Given the description of an element on the screen output the (x, y) to click on. 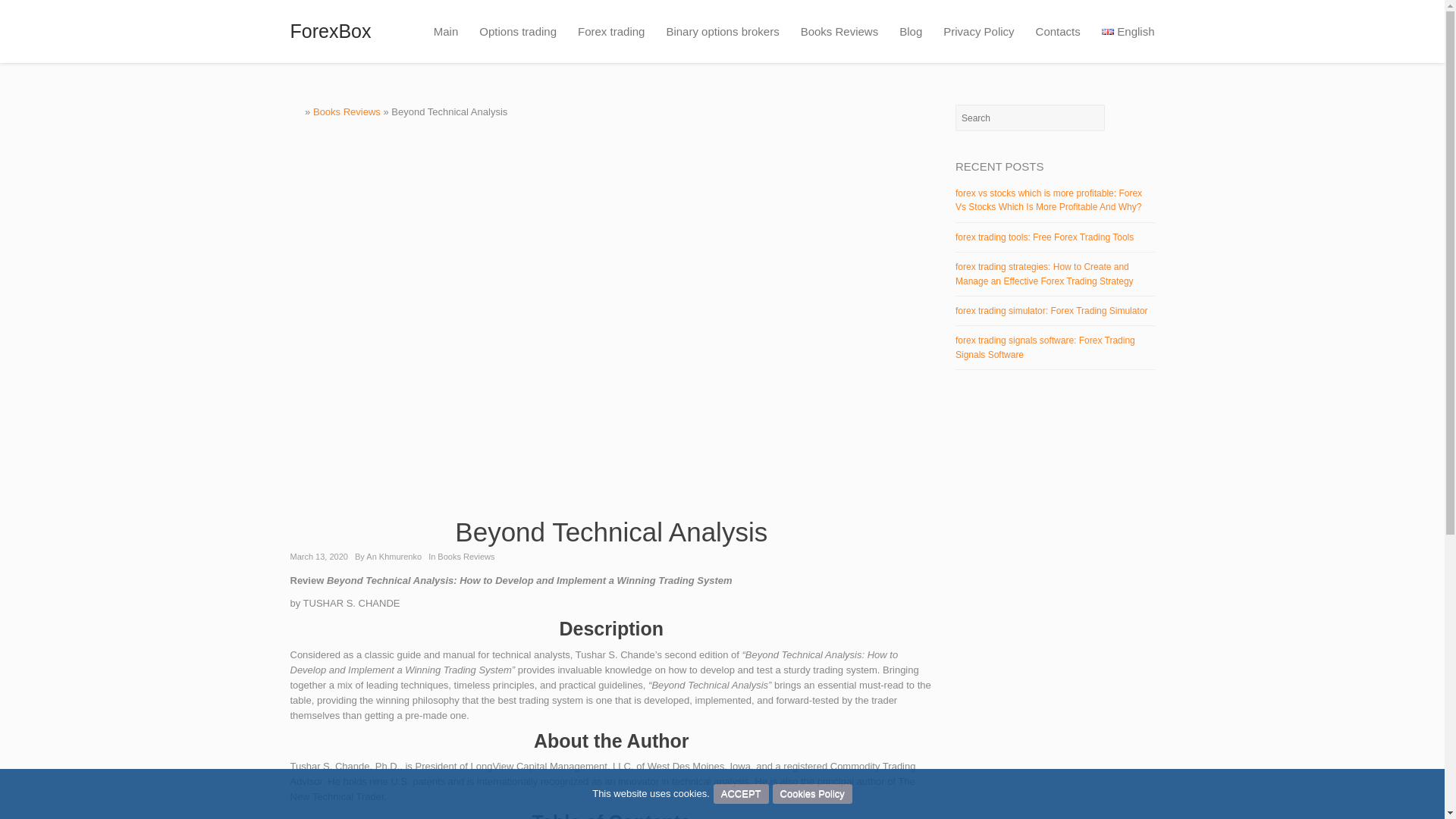
forex trading tools: Free Forex Trading Tools (1044, 236)
ForexBox (330, 30)
Contacts (1057, 31)
Books Reviews (839, 31)
Books Reviews (346, 111)
Privacy Policy (979, 31)
English (1122, 31)
Options trading (517, 31)
An Khmurenko (394, 556)
Books Reviews (466, 556)
Forex trading (611, 31)
Binary options brokers (722, 31)
forex trading simulator: Forex Trading Simulator (1051, 310)
